Given the description of an element on the screen output the (x, y) to click on. 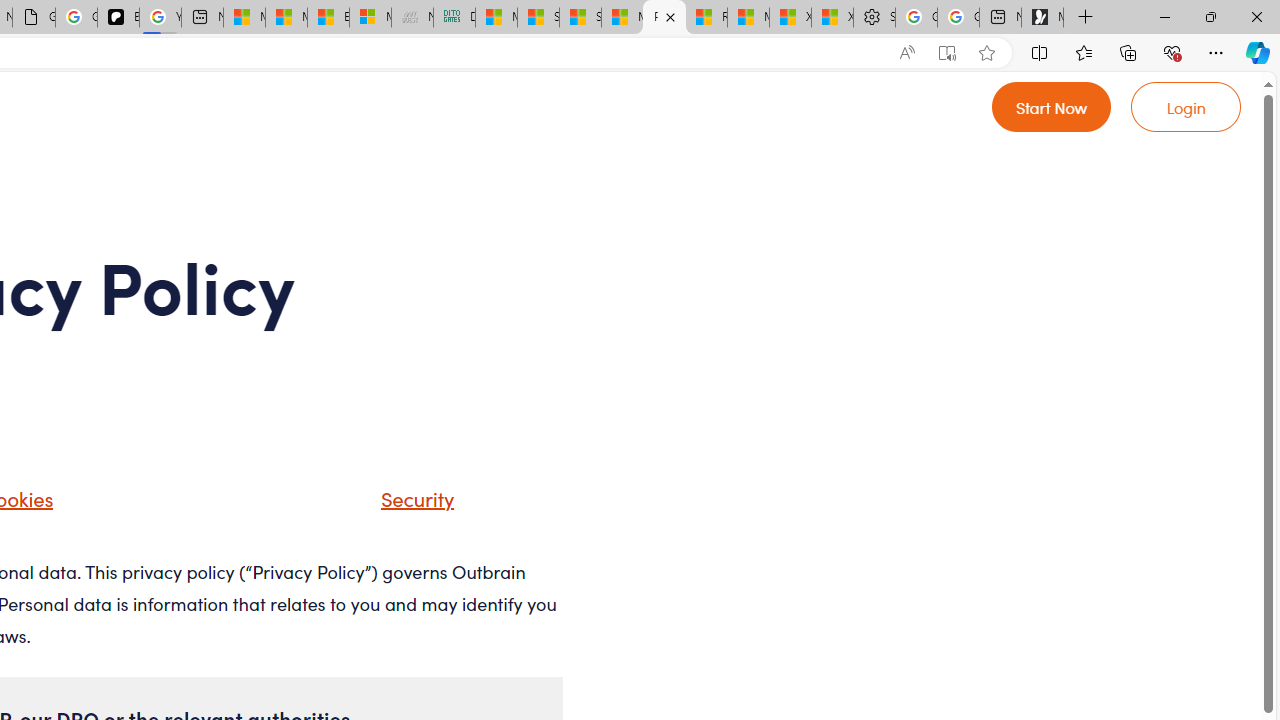
Go to login (1186, 106)
Be Smart | creating Science videos | Patreon (118, 17)
Security (392, 505)
